Given the description of an element on the screen output the (x, y) to click on. 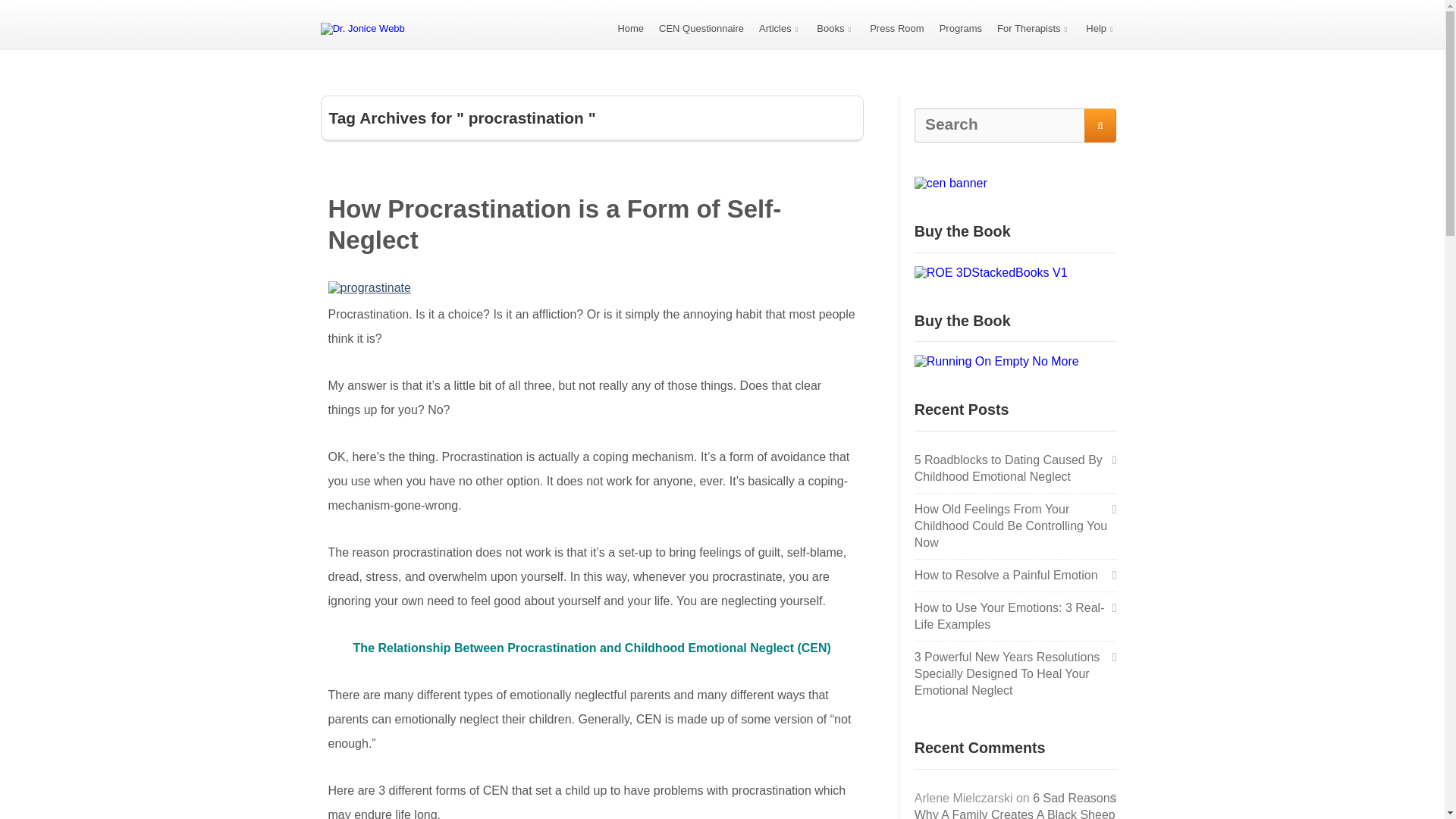
Books (835, 28)
Home (630, 28)
Help (1101, 28)
CEN Questionnaire (701, 28)
prograstinate (591, 287)
Press Room (896, 28)
For Therapists (1033, 28)
Programs (960, 28)
Articles (780, 28)
How Procrastination is a Form of Self-Neglect (553, 223)
